Given the description of an element on the screen output the (x, y) to click on. 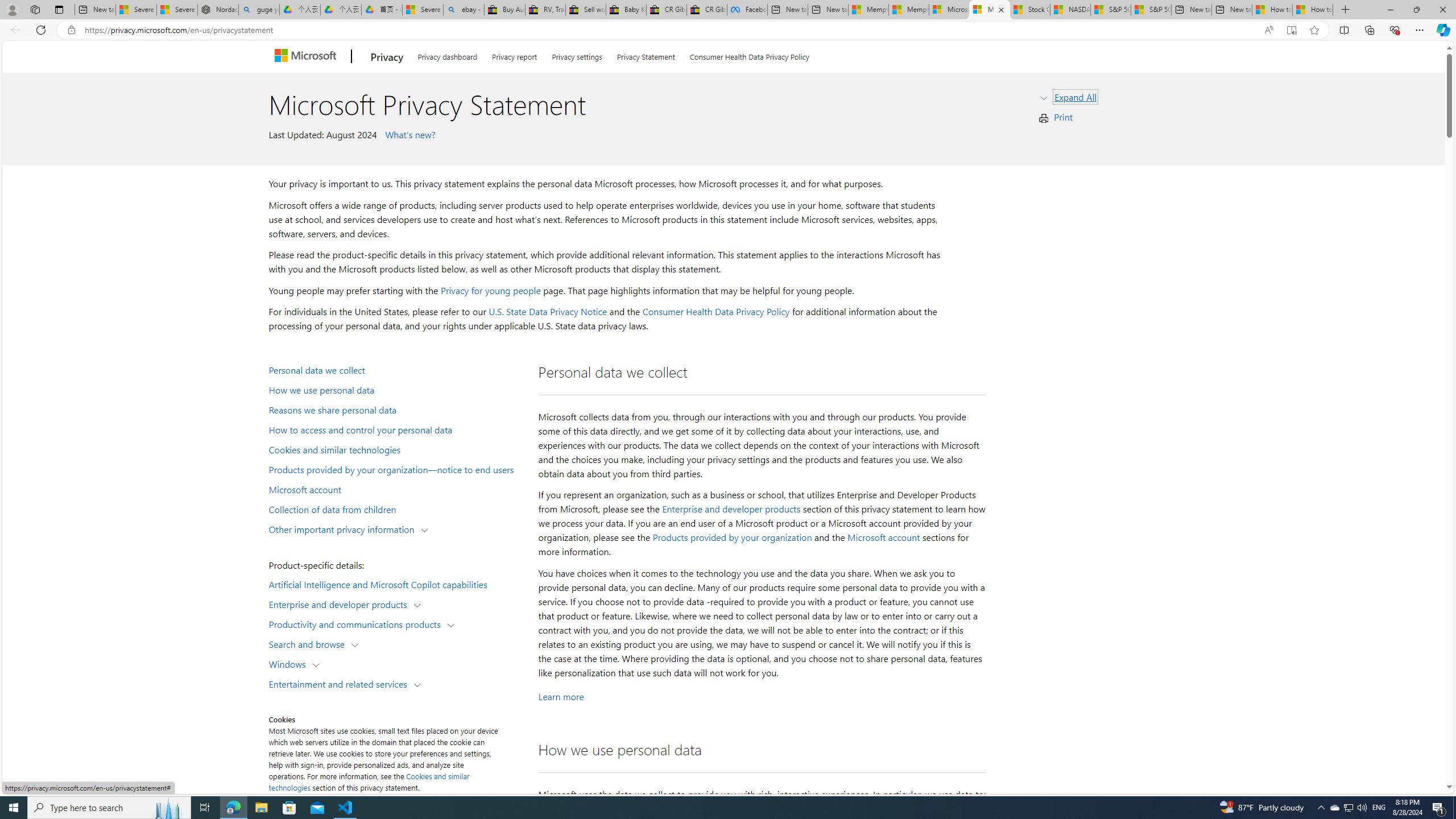
Other important privacy information (343, 528)
guge yunpan - Search (258, 9)
Enter Immersive Reader (F9) (1291, 29)
U.S. State Data Privacy Notice (548, 311)
Tab actions menu (58, 9)
S&P 500, Nasdaq end lower, weighed by Nvidia dip | Watch (1150, 9)
Workspaces (34, 9)
Reasons we share personal data (395, 409)
Personal Profile (12, 9)
New tab (1231, 9)
Personal data we collect (395, 368)
Privacy dashboard (447, 54)
Privacy settings (576, 54)
